Given the description of an element on the screen output the (x, y) to click on. 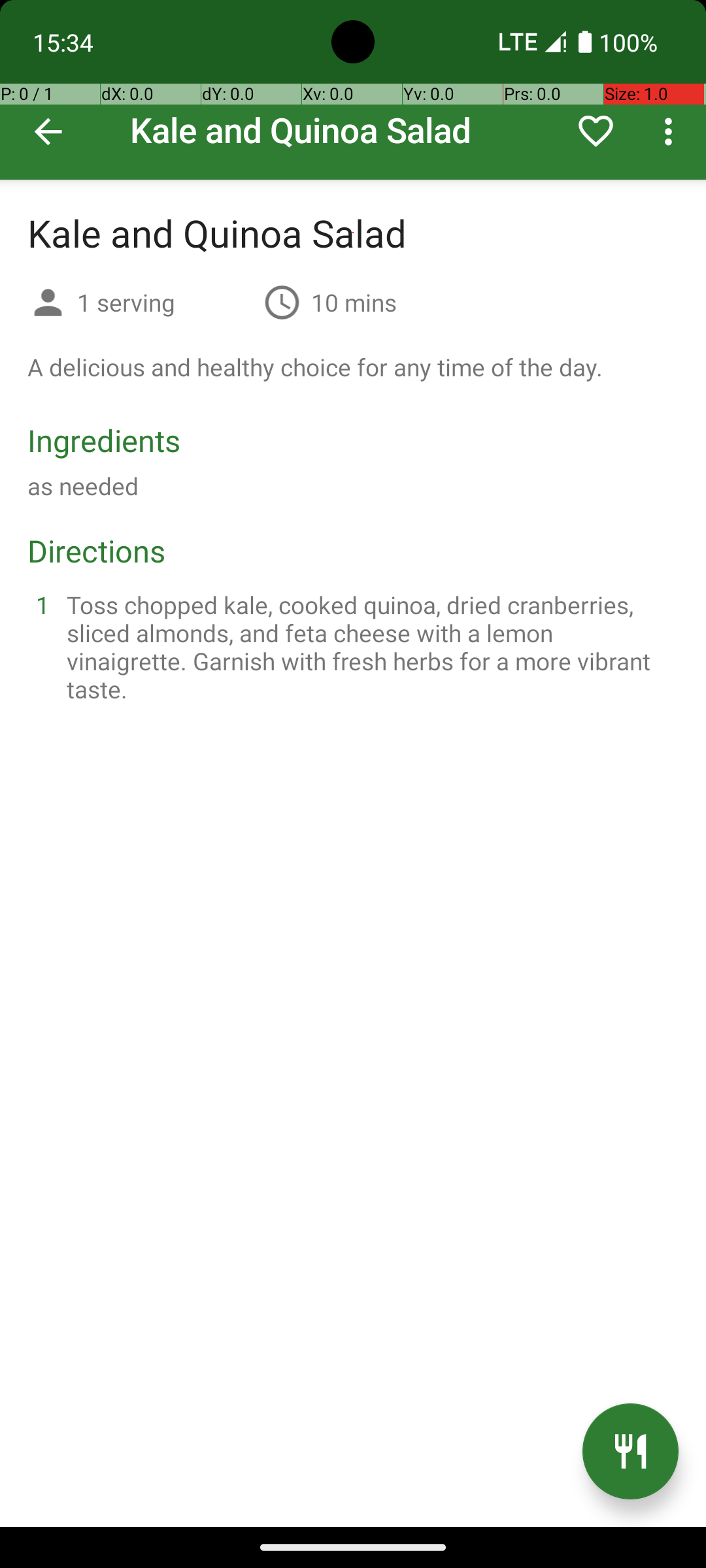
Toss chopped kale, cooked quinoa, dried cranberries, sliced almonds, and feta cheese with a lemon vinaigrette. Garnish with fresh herbs for a more vibrant taste. Element type: android.widget.TextView (368, 646)
